Given the description of an element on the screen output the (x, y) to click on. 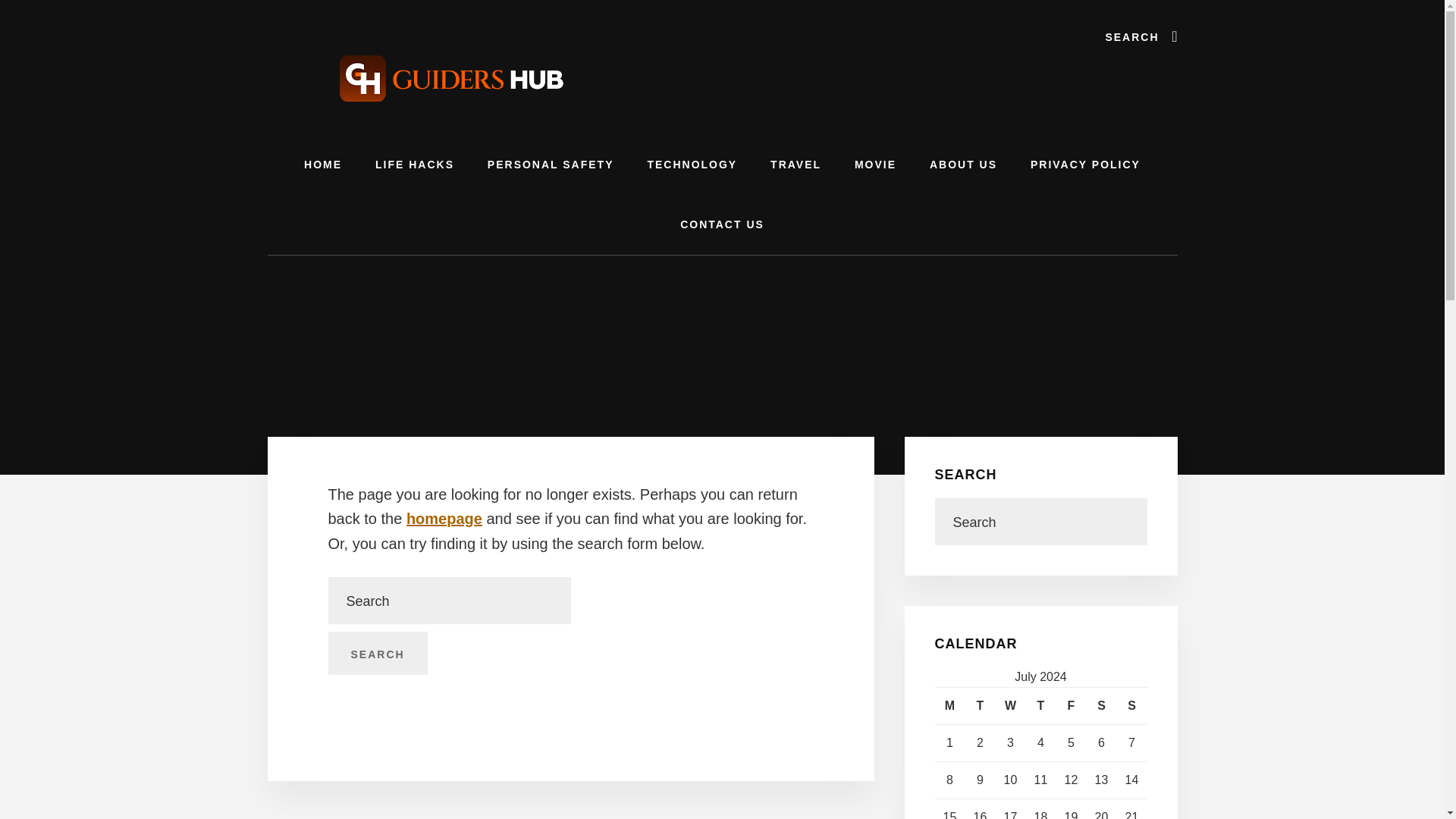
TECHNOLOGY (691, 164)
LIFE HACKS (413, 164)
PERSONAL SAFETY (549, 164)
HOME (322, 164)
Search (376, 653)
Search (376, 653)
CONTACT US (721, 224)
ABOUT US (962, 164)
PRIVACY POLICY (1085, 164)
MOVIE (875, 164)
